Given the description of an element on the screen output the (x, y) to click on. 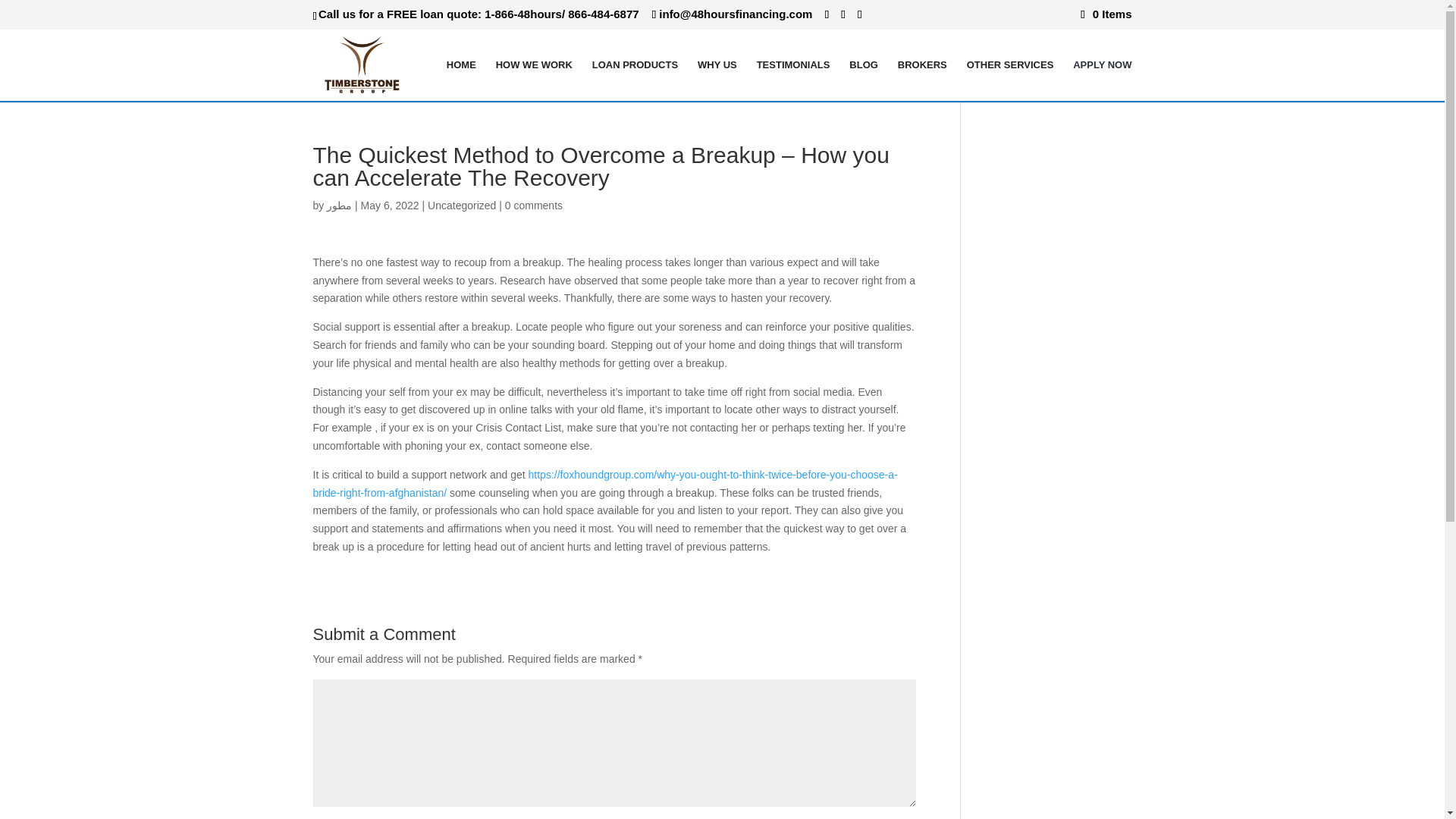
APPLY NOW (1102, 78)
OTHER SERVICES (1010, 78)
0 comments (533, 205)
BROKERS (922, 78)
0 Items (1105, 13)
HOW WE WORK (534, 78)
LOAN PRODUCTS (635, 78)
Uncategorized (462, 205)
TESTIMONIALS (793, 78)
WHY US (716, 78)
